Given the description of an element on the screen output the (x, y) to click on. 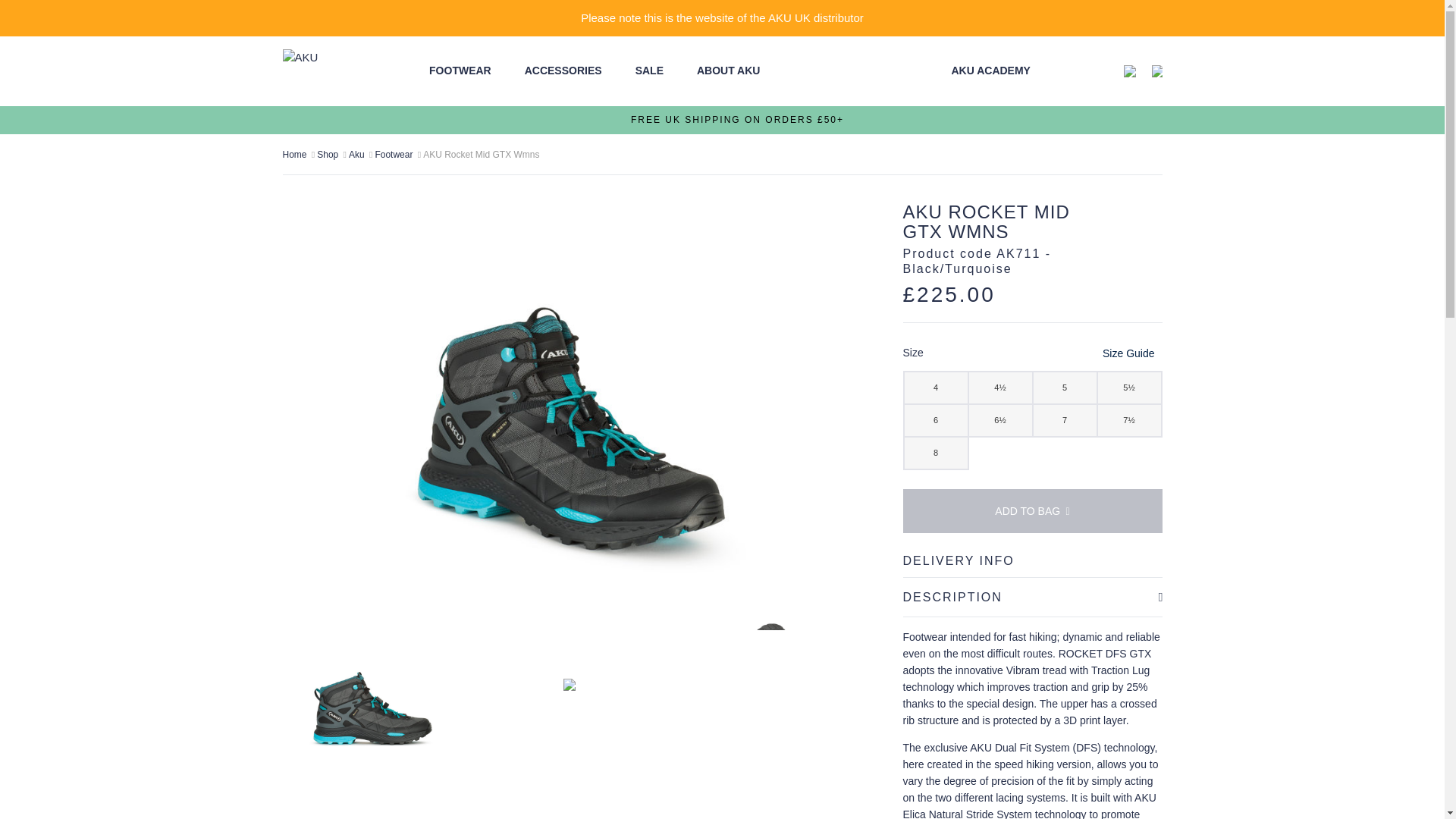
Footwear (394, 154)
Shop (328, 154)
AKU ACADEMY (990, 71)
AKU Rocket Mid GTX Wmns (480, 154)
Aku (357, 154)
FOOTWEAR (460, 71)
REACT RESPONSIBLY (816, 71)
SALE (648, 71)
AKU (337, 71)
Home (295, 154)
ACCESSORIES (563, 71)
REACTIVE RESPONSIBLY (895, 71)
ABOUT AKU (727, 71)
